Given the description of an element on the screen output the (x, y) to click on. 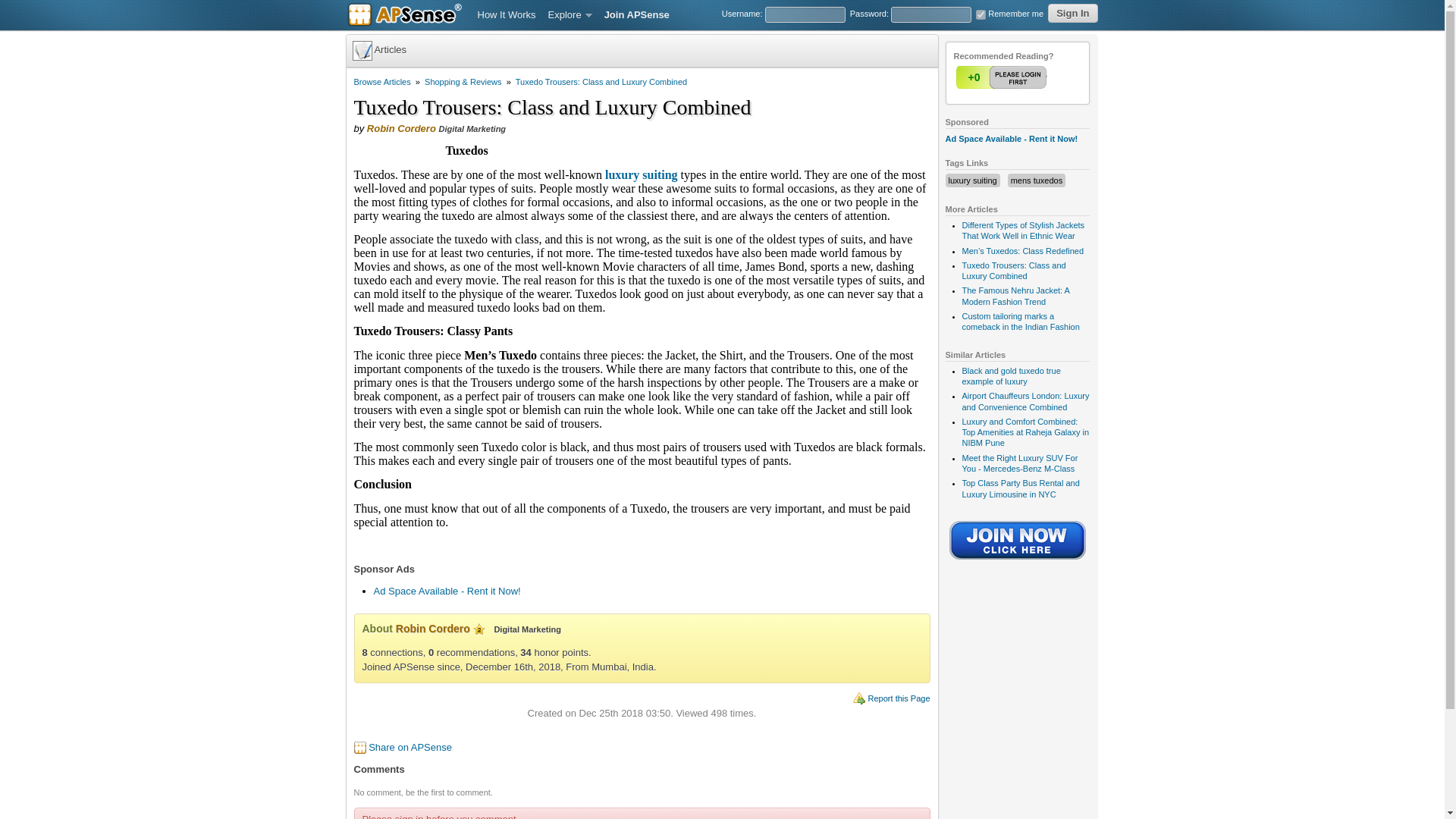
luxury suiting (971, 180)
Join APSense (636, 15)
Votes Up (973, 77)
Freshman (478, 629)
Sign In (1072, 13)
Custom tailoring marks a comeback in the Indian Fashion (1019, 321)
1 (1002, 77)
Explore (569, 15)
1 (980, 14)
-1 (1031, 77)
luxury suiting (641, 174)
Join APSense Social Network (1017, 560)
Browse Articles (381, 81)
